Given the description of an element on the screen output the (x, y) to click on. 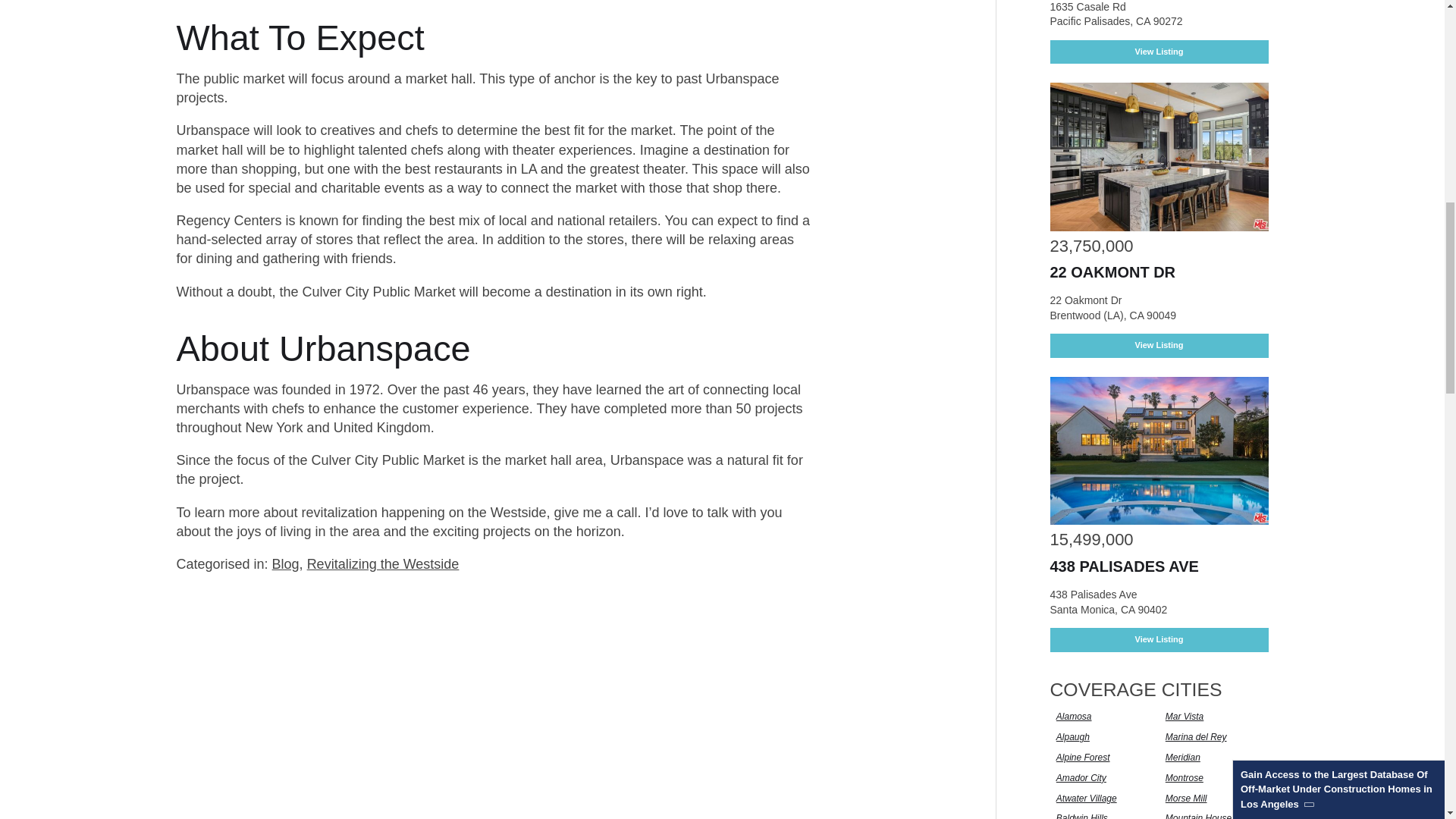
View Listing (1158, 51)
Blog (285, 563)
View Listing (1158, 345)
Revitalizing the Westside (383, 563)
22 OAKMONT DR (1111, 271)
